Given the description of an element on the screen output the (x, y) to click on. 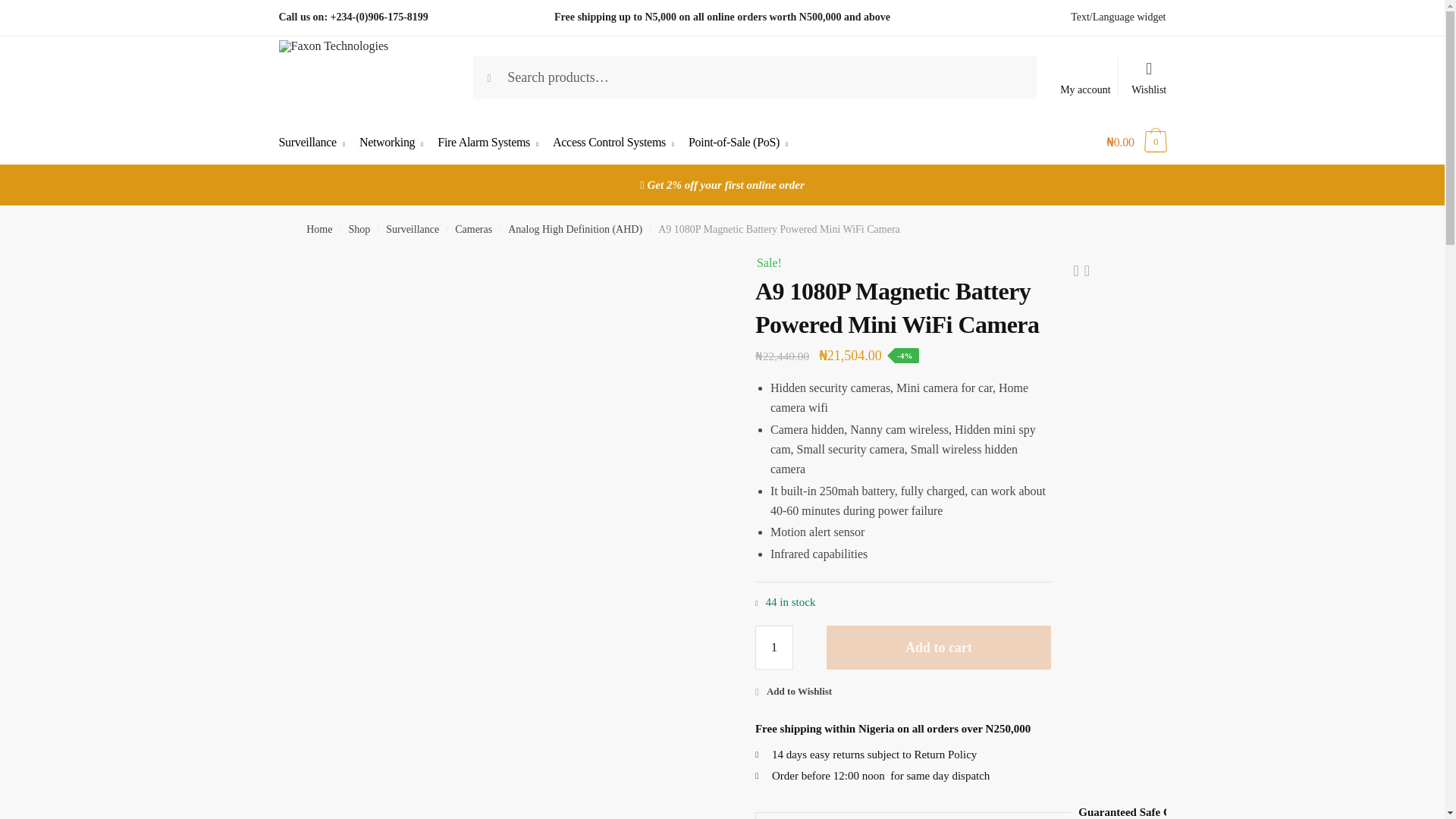
My account (1085, 86)
View your shopping cart (1136, 142)
Networking (390, 142)
Surveillance (316, 142)
Search (503, 71)
Wishlist (1149, 70)
